Given the description of an element on the screen output the (x, y) to click on. 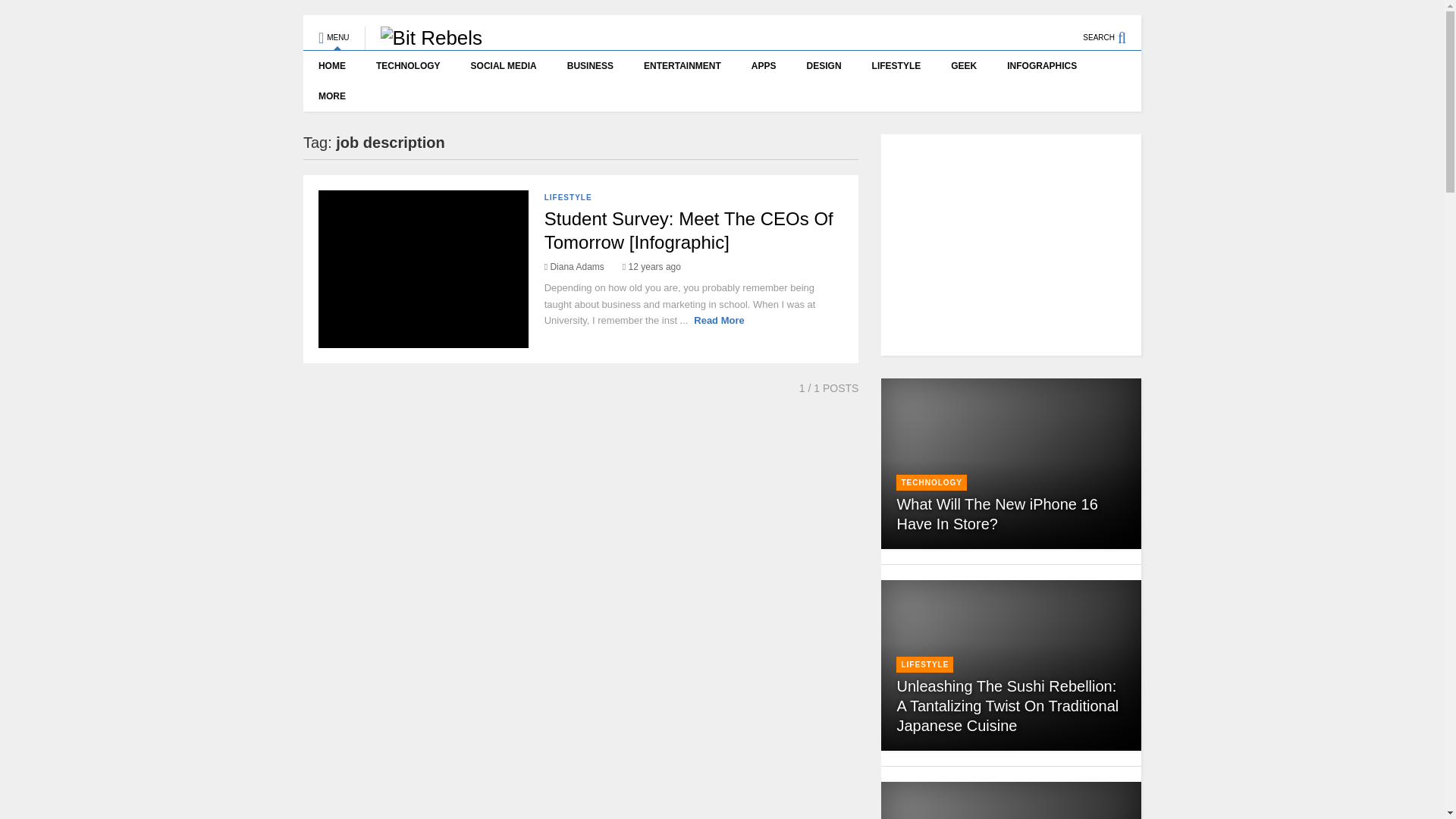
ENTERTAINMENT (682, 65)
Read More (719, 319)
What Will The New iPhone 16 Have In Store? (996, 514)
MORE (335, 96)
APPS (764, 65)
INFOGRAPHICS (1041, 65)
LIFESTYLE (896, 65)
12 years ago (652, 266)
TECHNOLOGY (408, 65)
